Given the description of an element on the screen output the (x, y) to click on. 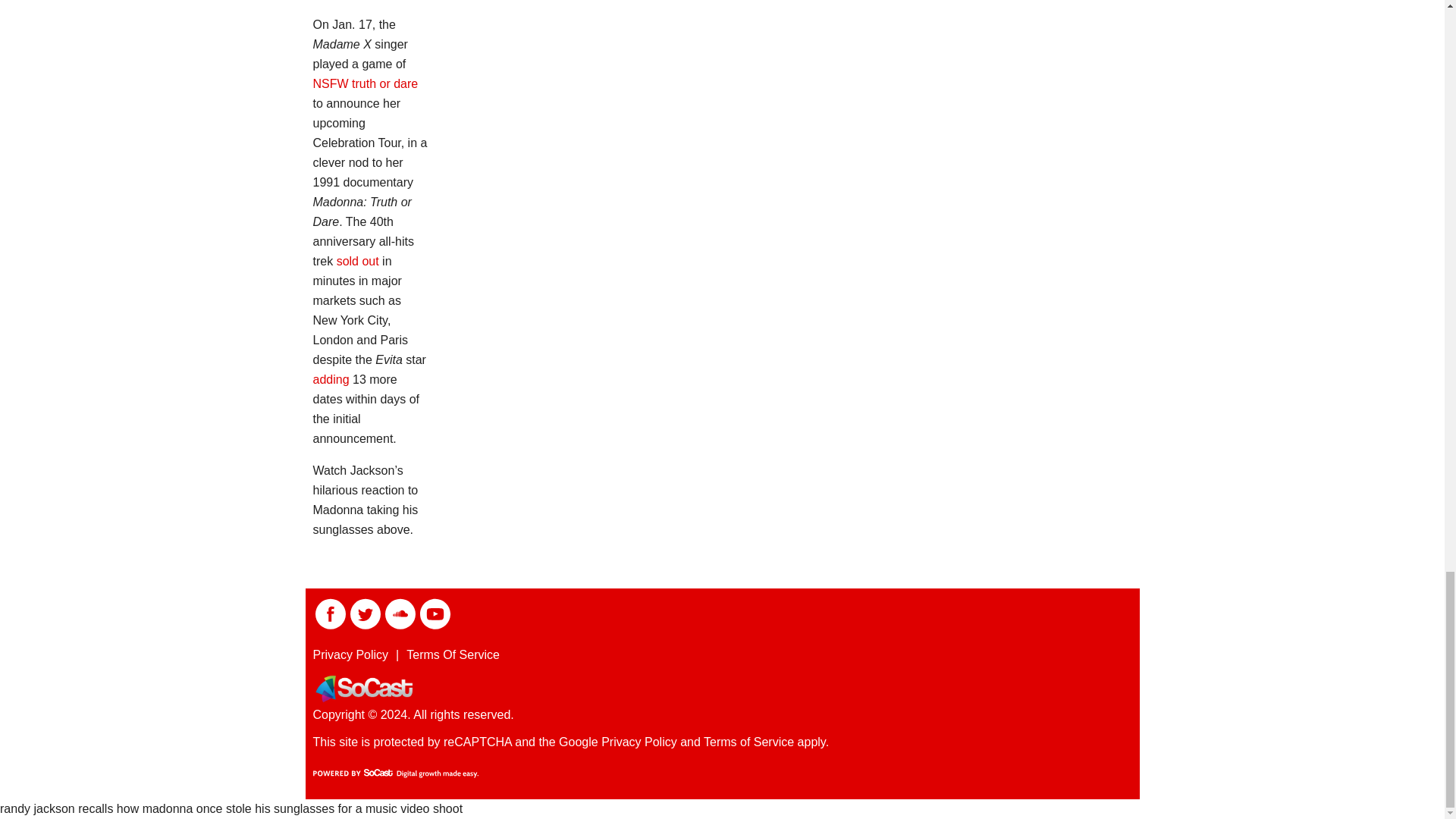
adding (331, 379)
Powered By SoCast (395, 773)
sold out (357, 260)
NSFW truth or dare (365, 83)
